Given the description of an element on the screen output the (x, y) to click on. 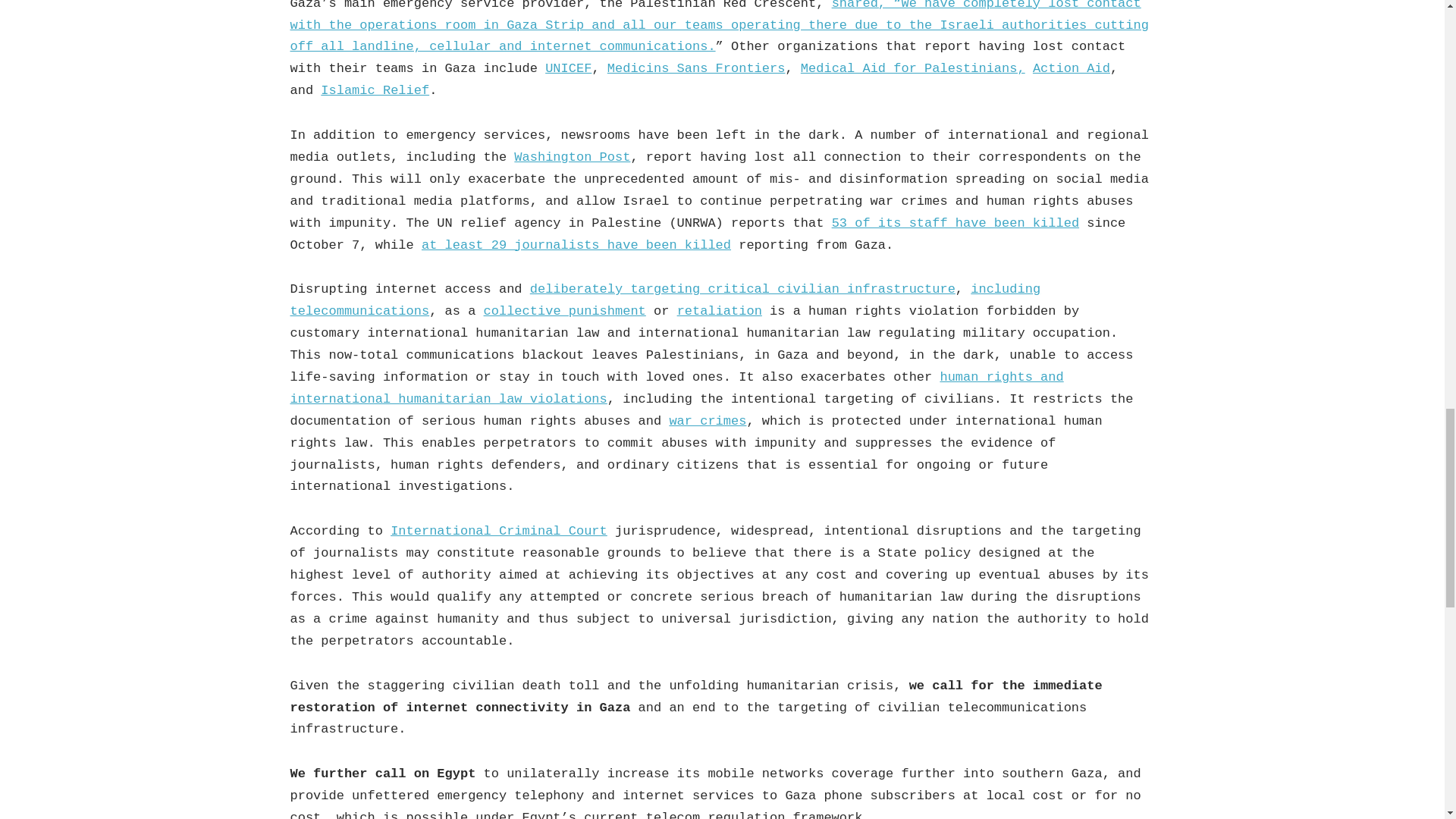
Islamic Relief (374, 90)
Action Aid (1070, 68)
Medical Aid for Palestinians, (912, 68)
Medicins Sans Frontiers (696, 68)
at least 29 journalists have been killed (576, 245)
deliberately targeting critical civilian infrastructure (742, 288)
Washington Post (571, 156)
UNICEF (567, 68)
53 of its staff have been killed (954, 223)
